Given the description of an element on the screen output the (x, y) to click on. 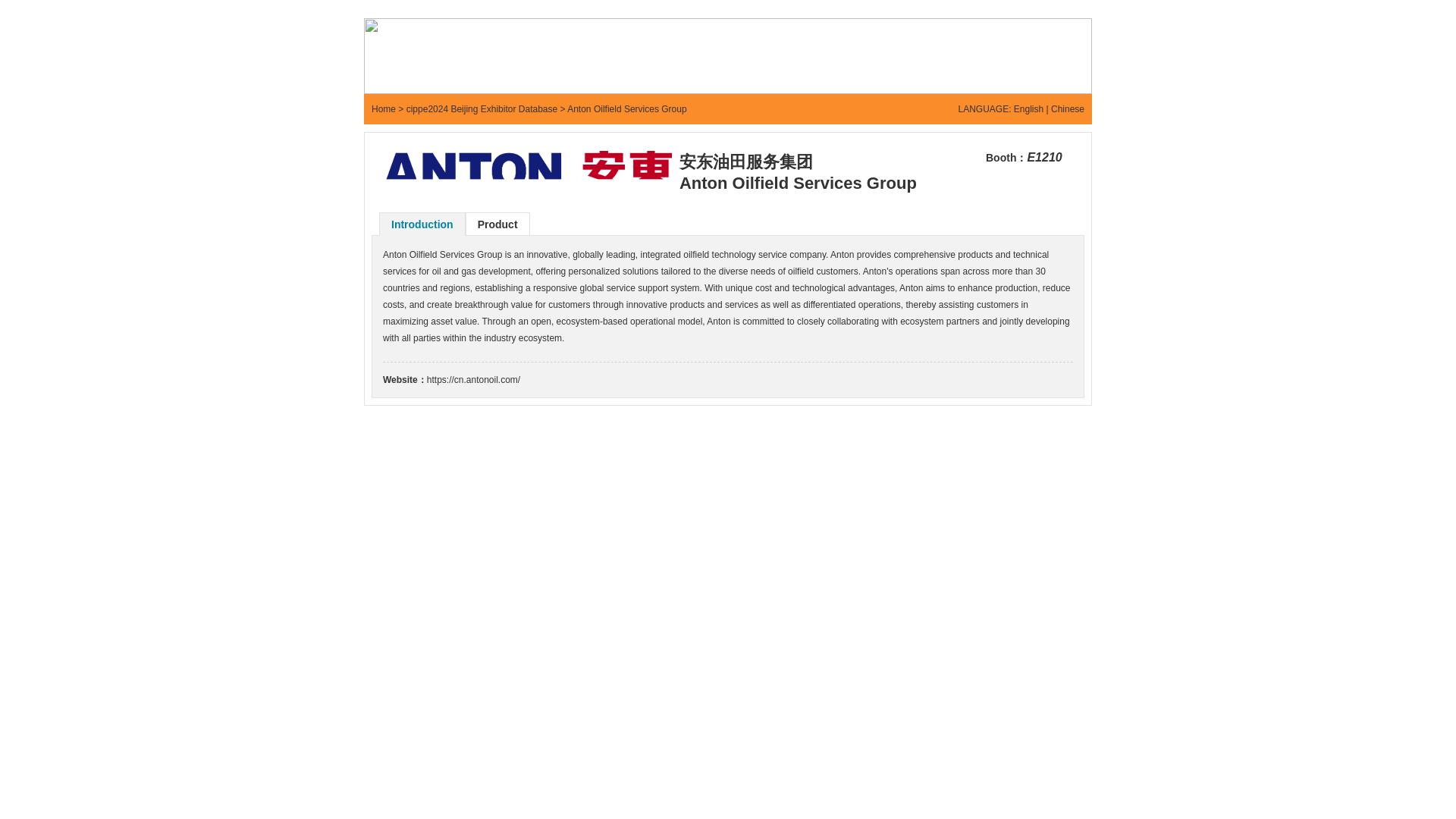
cippe2024 Beijing Exhibitor Database (481, 109)
English (1028, 109)
Home (383, 109)
Chinese (1067, 109)
Product (497, 224)
Introduction (421, 224)
